Given the description of an element on the screen output the (x, y) to click on. 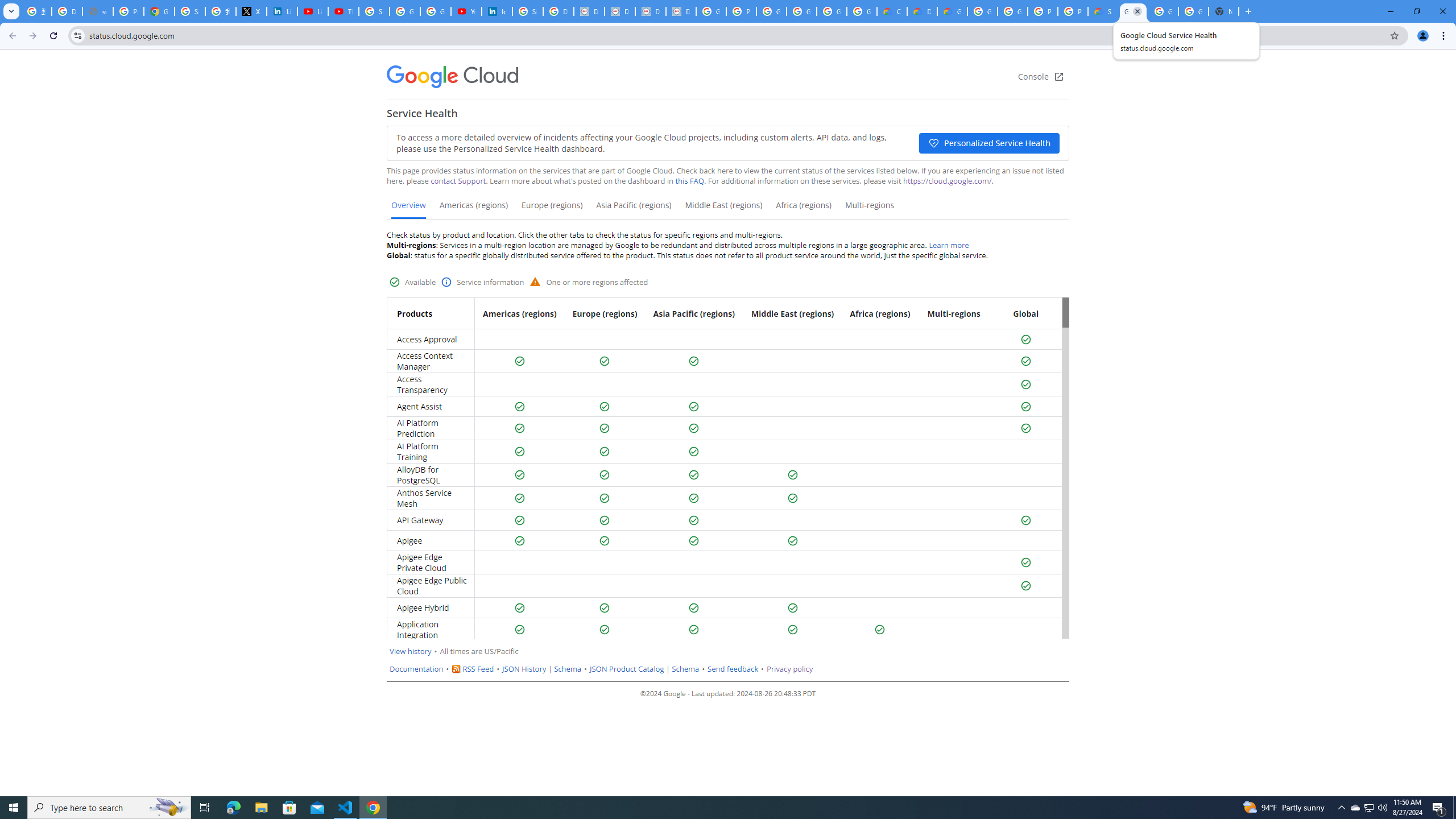
Google Cloud Platform (1162, 11)
Sign in - Google Accounts (373, 11)
New Tab (1223, 11)
X (251, 11)
JSON History (524, 668)
Gemini for Business and Developers | Google Cloud (951, 11)
this FAQ (689, 181)
View history (410, 651)
Data Privacy Framework (650, 11)
